Given the description of an element on the screen output the (x, y) to click on. 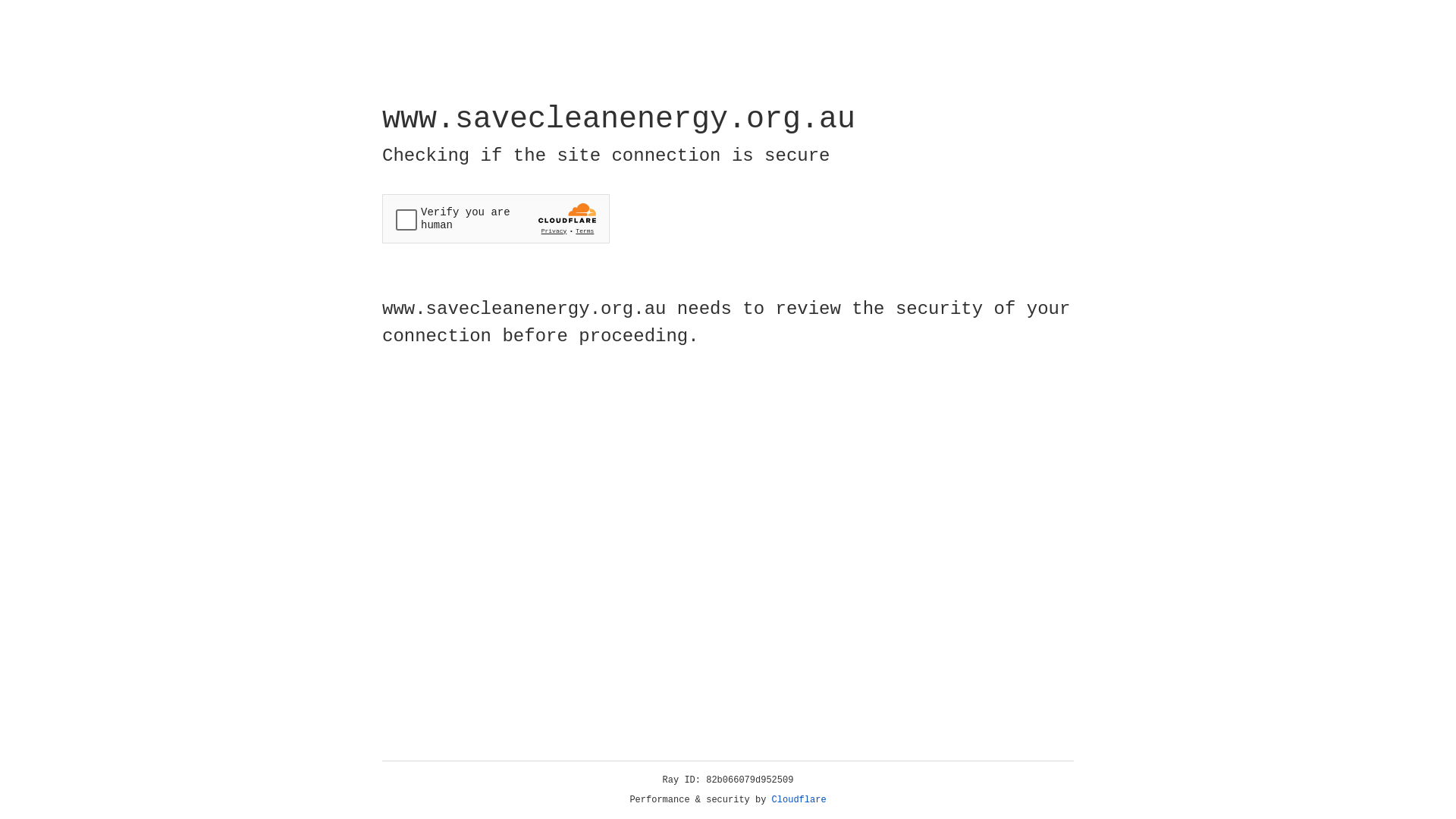
Widget containing a Cloudflare security challenge Element type: hover (495, 218)
Cloudflare Element type: text (798, 799)
